Given the description of an element on the screen output the (x, y) to click on. 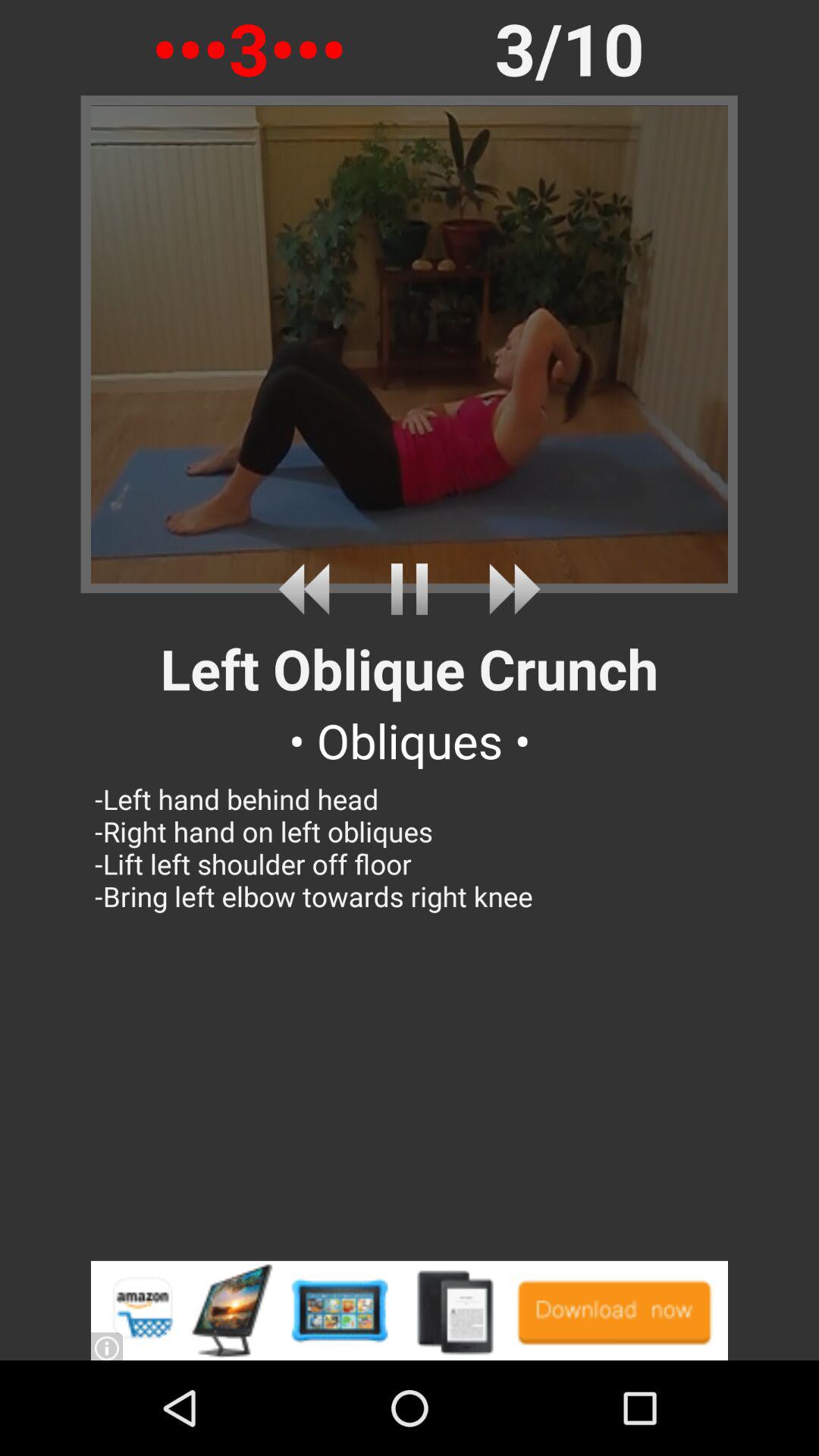
click to fast forward (508, 589)
